Given the description of an element on the screen output the (x, y) to click on. 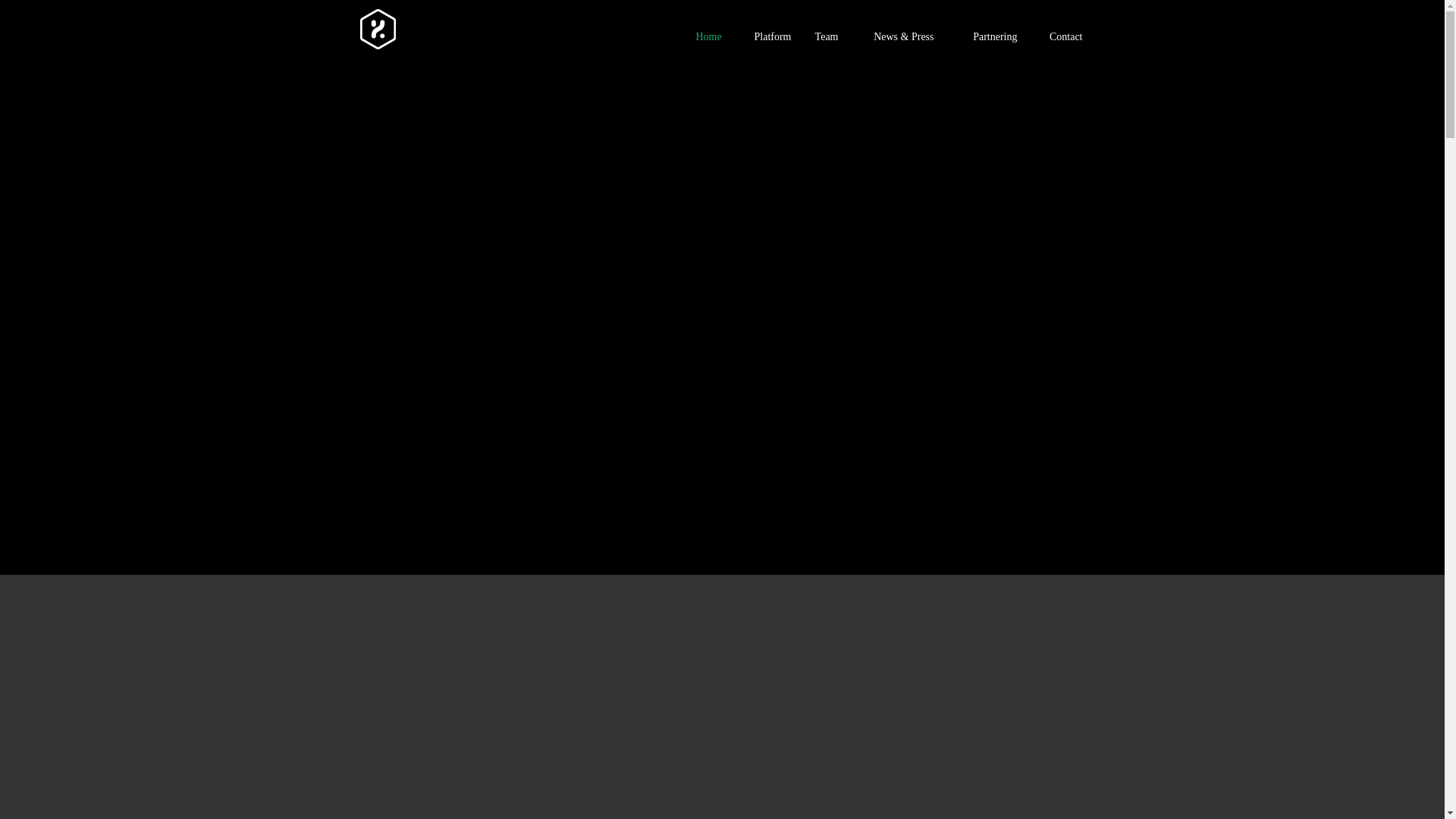
Contact (1060, 37)
Platform (766, 37)
Team (825, 37)
Partnering (985, 37)
Home (707, 37)
Logo (378, 29)
